Given the description of an element on the screen output the (x, y) to click on. 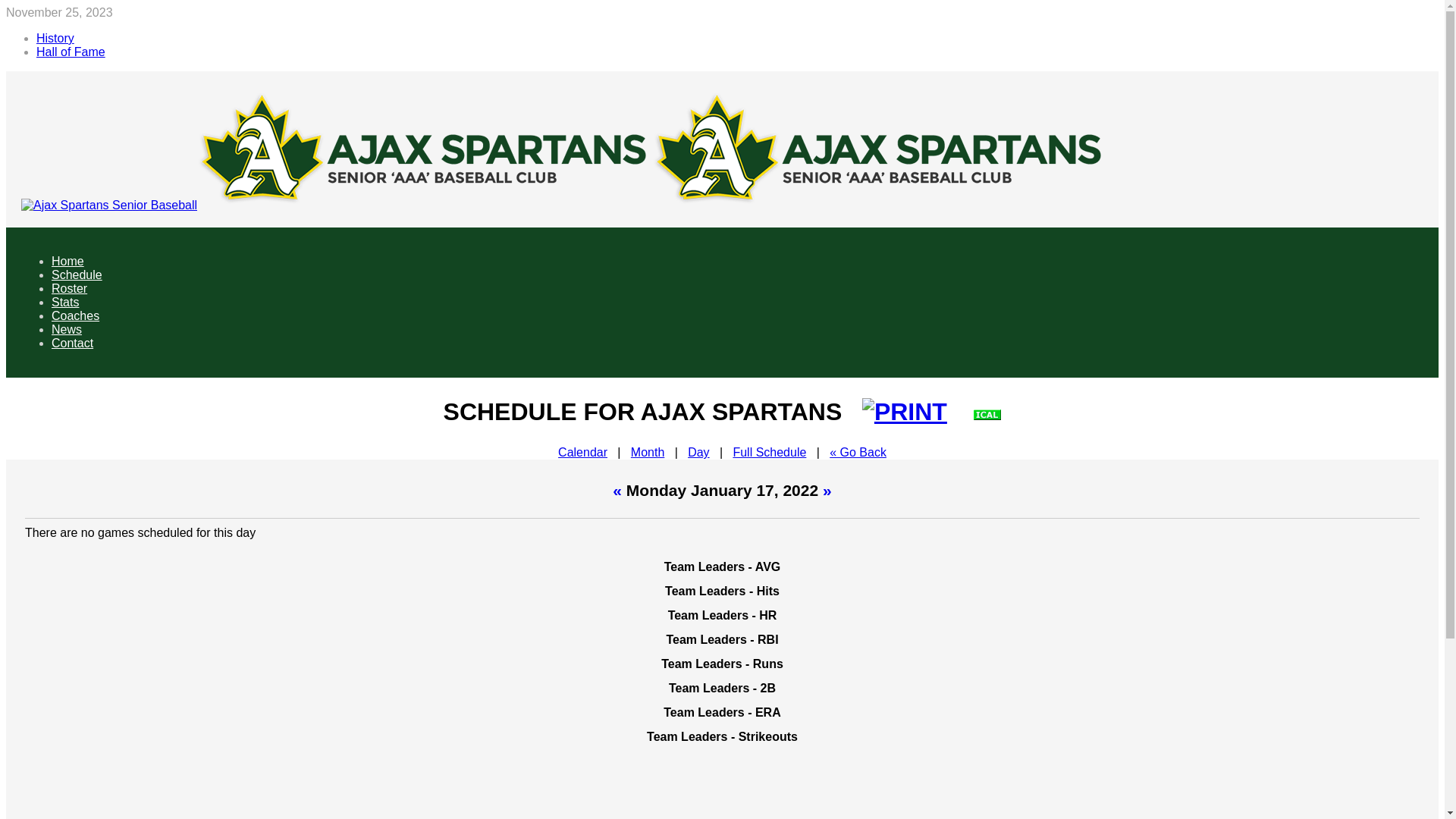
Calendar Element type: text (582, 451)
Home Element type: text (67, 260)
Schedule Element type: text (76, 274)
Print Element type: hover (904, 411)
Full Schedule Element type: text (769, 451)
Coaches Element type: text (75, 315)
Day Element type: text (698, 451)
History Element type: text (55, 37)
Download iCal File Element type: hover (987, 411)
Month Element type: text (647, 451)
Contact Element type: text (72, 342)
Roster Element type: text (69, 288)
Stats Element type: text (64, 301)
Hall of Fame Element type: text (70, 51)
News Element type: text (66, 329)
